Given the description of an element on the screen output the (x, y) to click on. 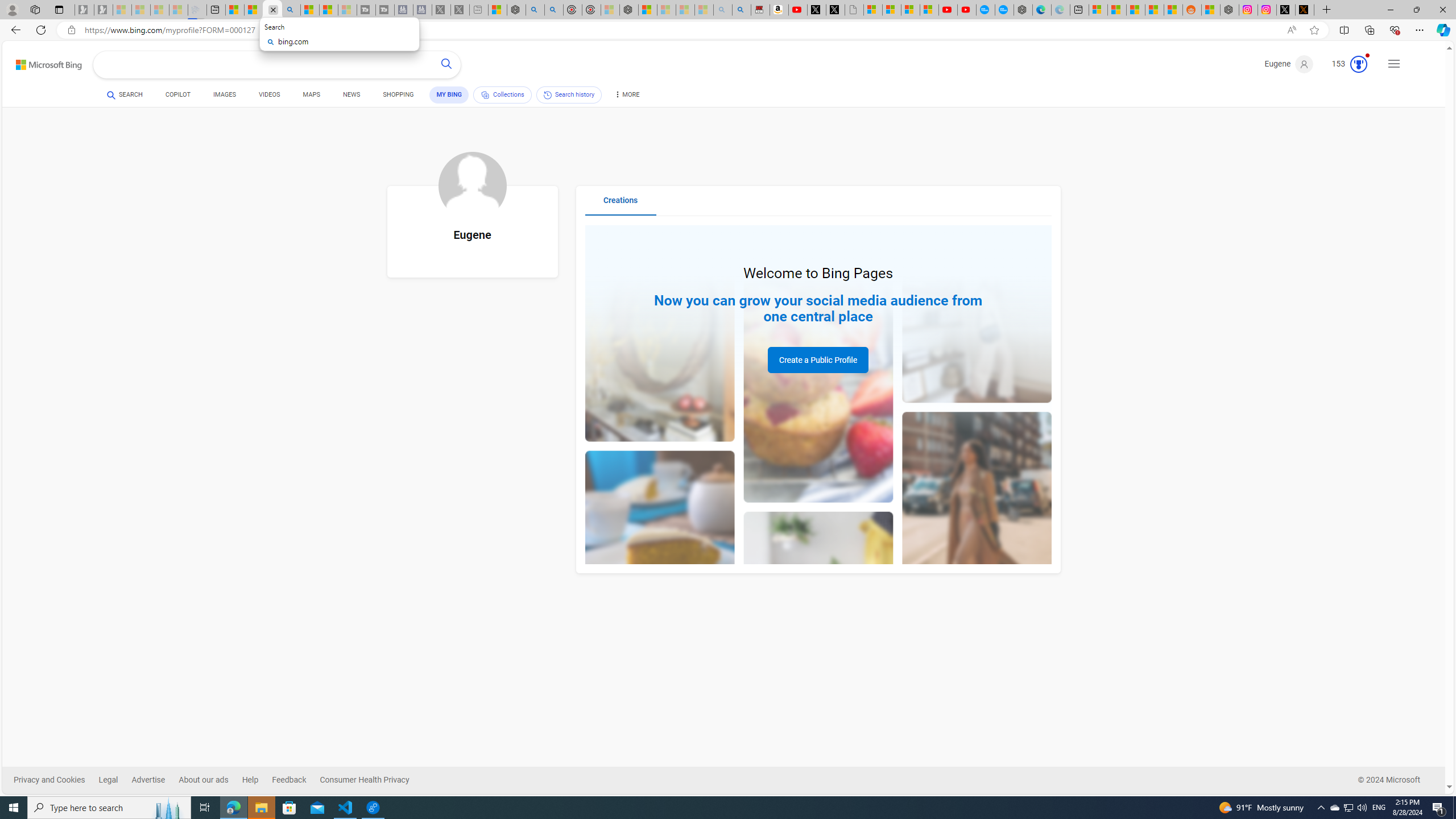
Class: b_pri_nav_svg (484, 94)
IMAGES (224, 96)
Nordace - Nordace has arrived Hong Kong (1022, 9)
MAPS (311, 94)
Search history (568, 94)
VIDEOS (268, 96)
Advertise (155, 780)
Day 1: Arriving in Yemen (surreal to be here) - YouTube (797, 9)
